Given the description of an element on the screen output the (x, y) to click on. 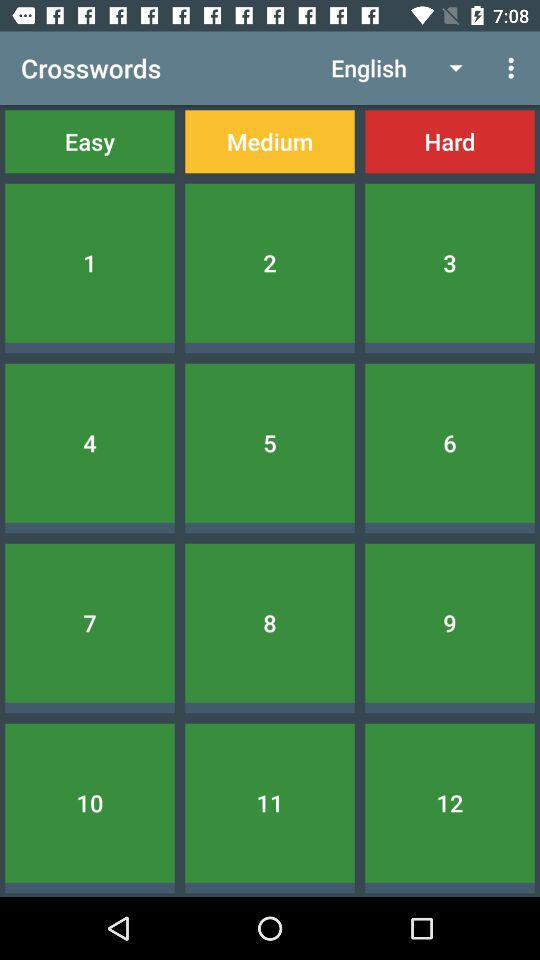
tap the 4 icon (89, 442)
